Given the description of an element on the screen output the (x, y) to click on. 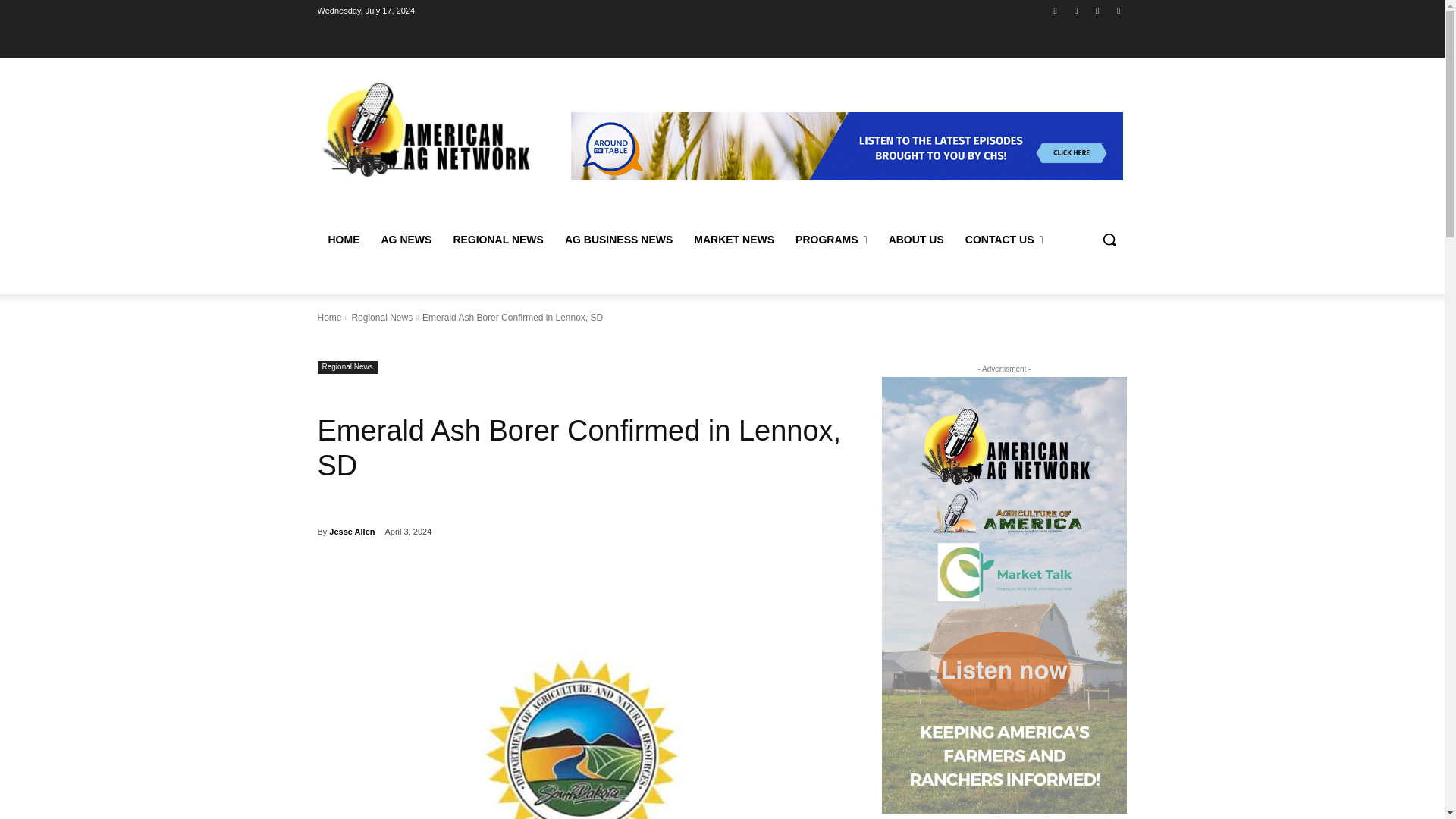
View all posts in Regional News (381, 317)
Twitter (1097, 9)
AG BUSINESS NEWS (618, 239)
Instagram (1075, 9)
PROGRAMS (830, 239)
ABOUT US (916, 239)
Youtube (1117, 9)
REGIONAL NEWS (498, 239)
Facebook (1055, 9)
MARKET NEWS (733, 239)
SD DANR Logo (580, 699)
CONTACT US (1004, 239)
AG NEWS (405, 239)
HOME (343, 239)
